Given the description of an element on the screen output the (x, y) to click on. 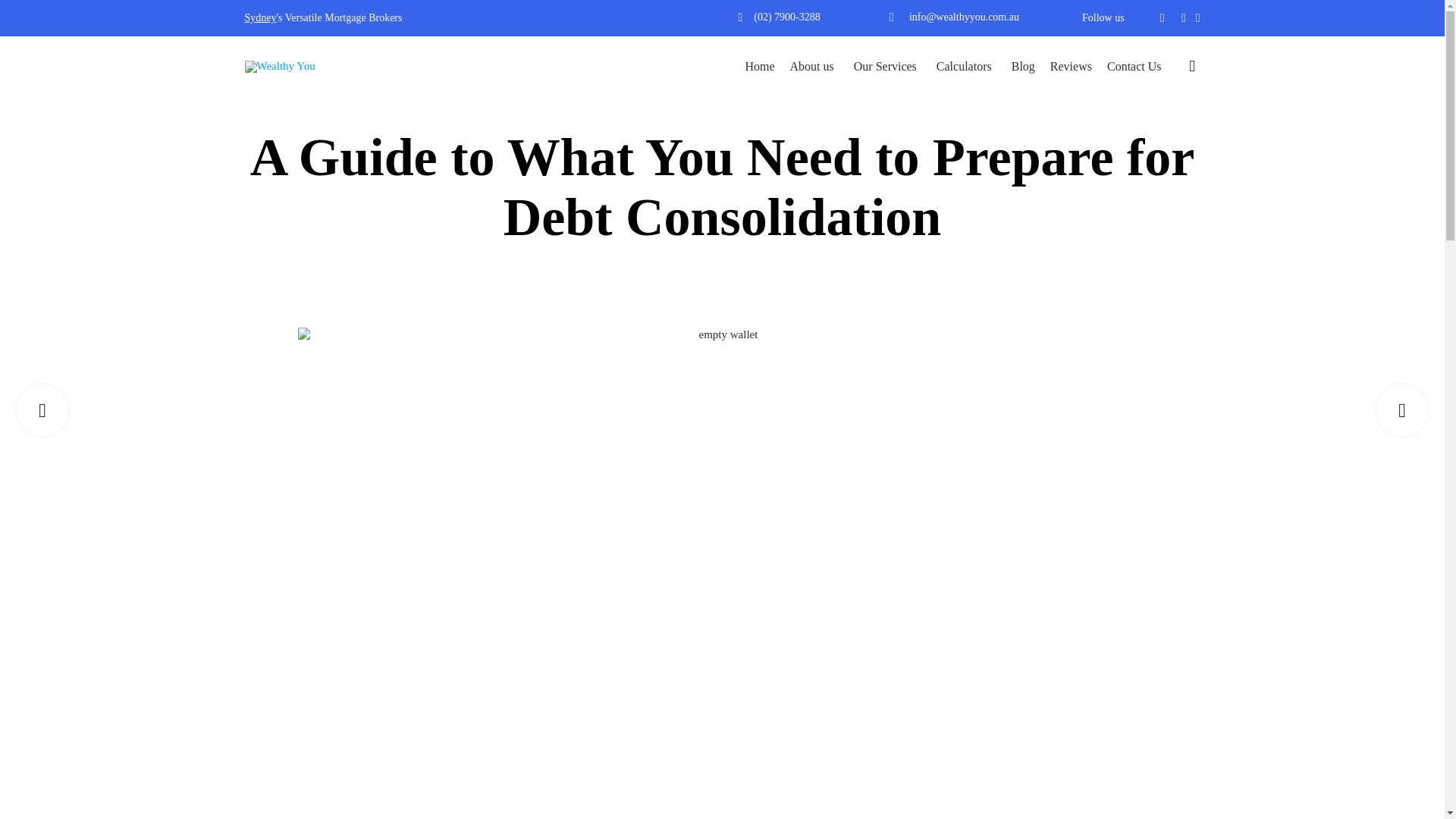
Reviews (1070, 66)
Blog (1023, 66)
Contact Us (1134, 66)
Our Services (886, 66)
Calculators (966, 66)
About us (814, 66)
Home (758, 66)
Wealthy You (291, 66)
Sydney (260, 18)
